Given the description of an element on the screen output the (x, y) to click on. 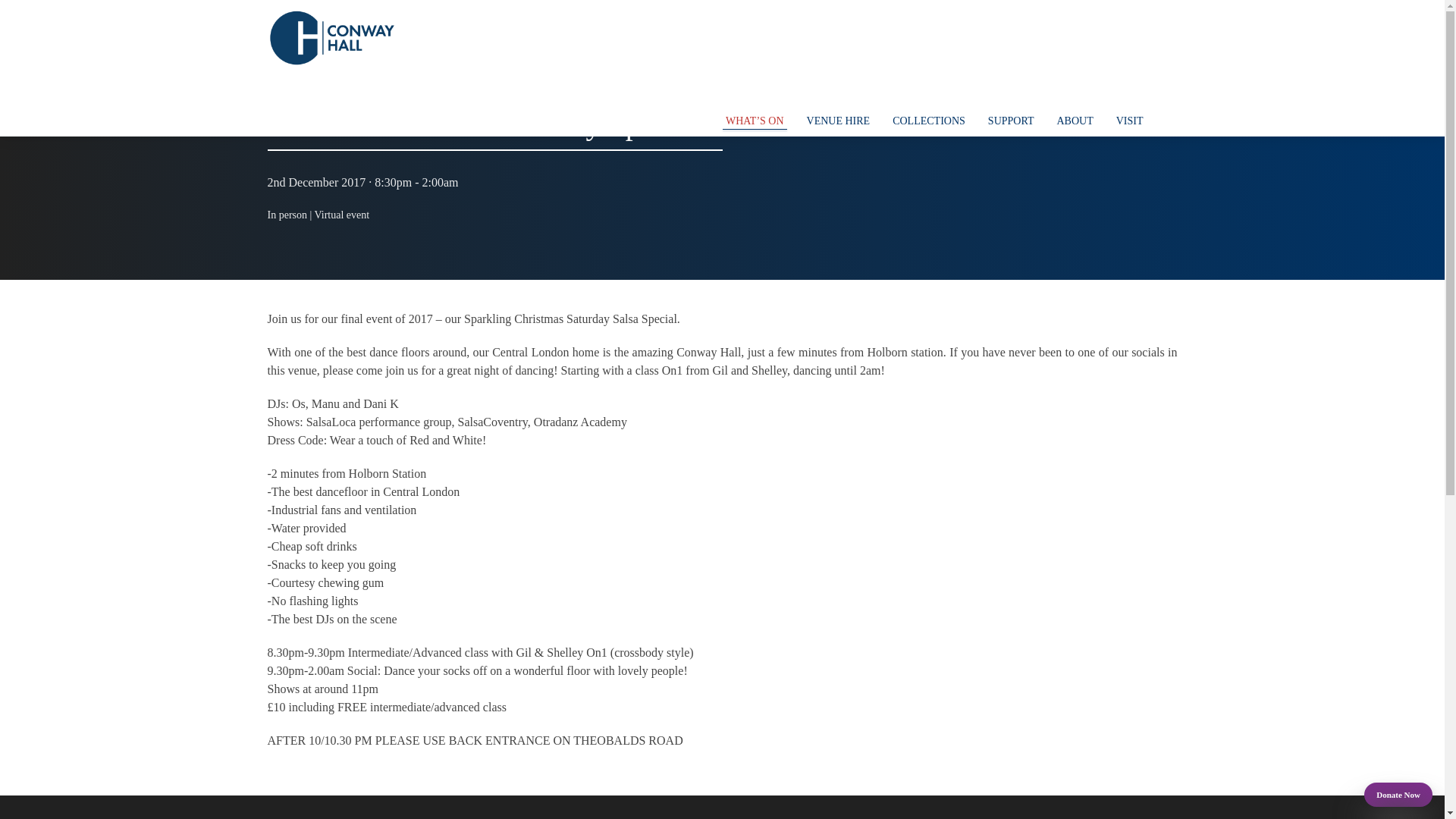
Conway Hall (331, 38)
Donate Now (1398, 794)
COLLECTIONS (928, 121)
VENUE HIRE (838, 121)
SUPPORT (1010, 121)
ABOUT (1074, 121)
VISIT (1129, 121)
